Given the description of an element on the screen output the (x, y) to click on. 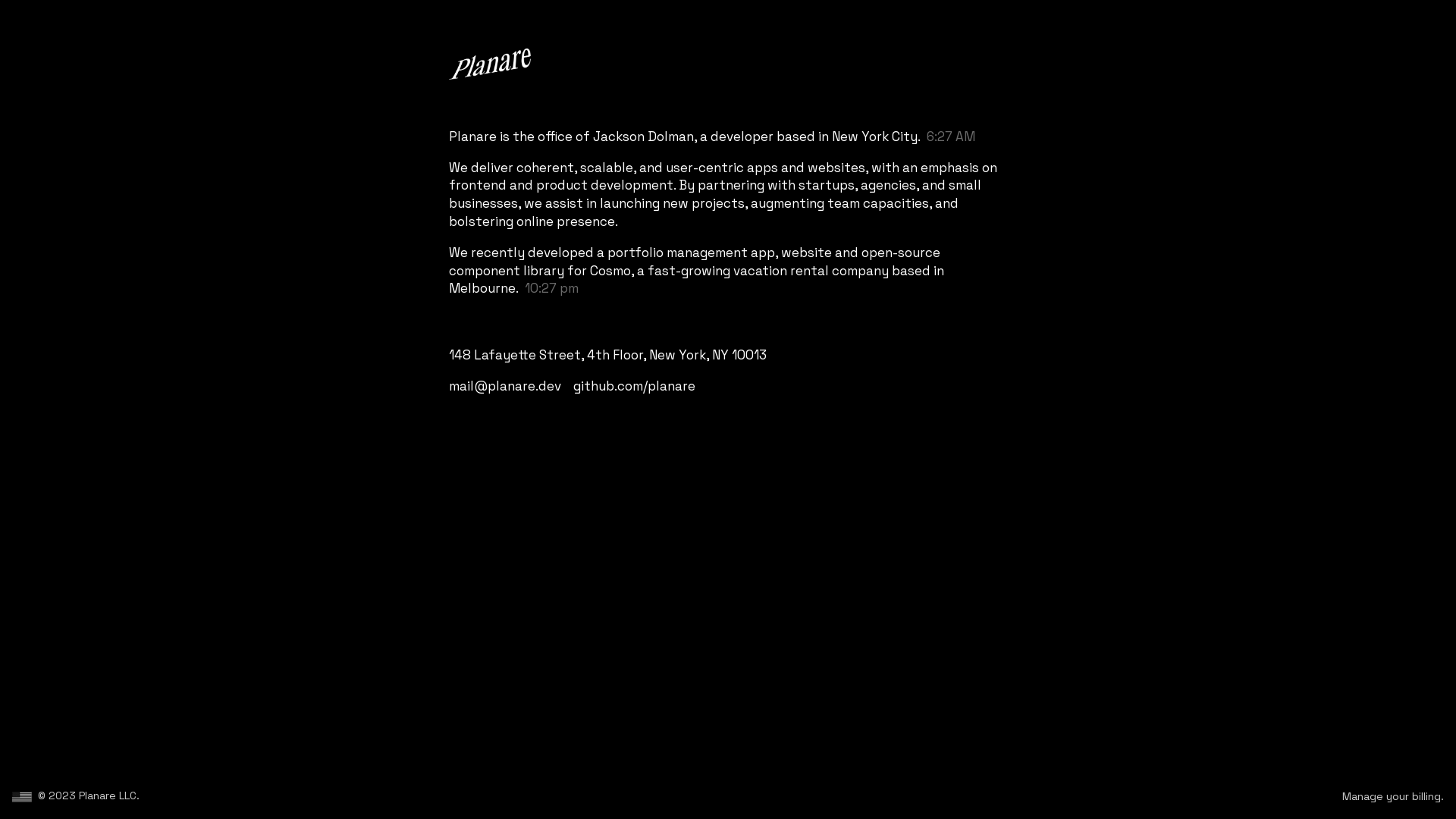
mail@planare.dev Element type: text (504, 385)
component library Element type: text (506, 270)
Jackson Dolman Element type: text (643, 136)
Manage your billing. Element type: text (1392, 796)
github.com/planare Element type: text (634, 385)
website Element type: text (806, 252)
